Given the description of an element on the screen output the (x, y) to click on. 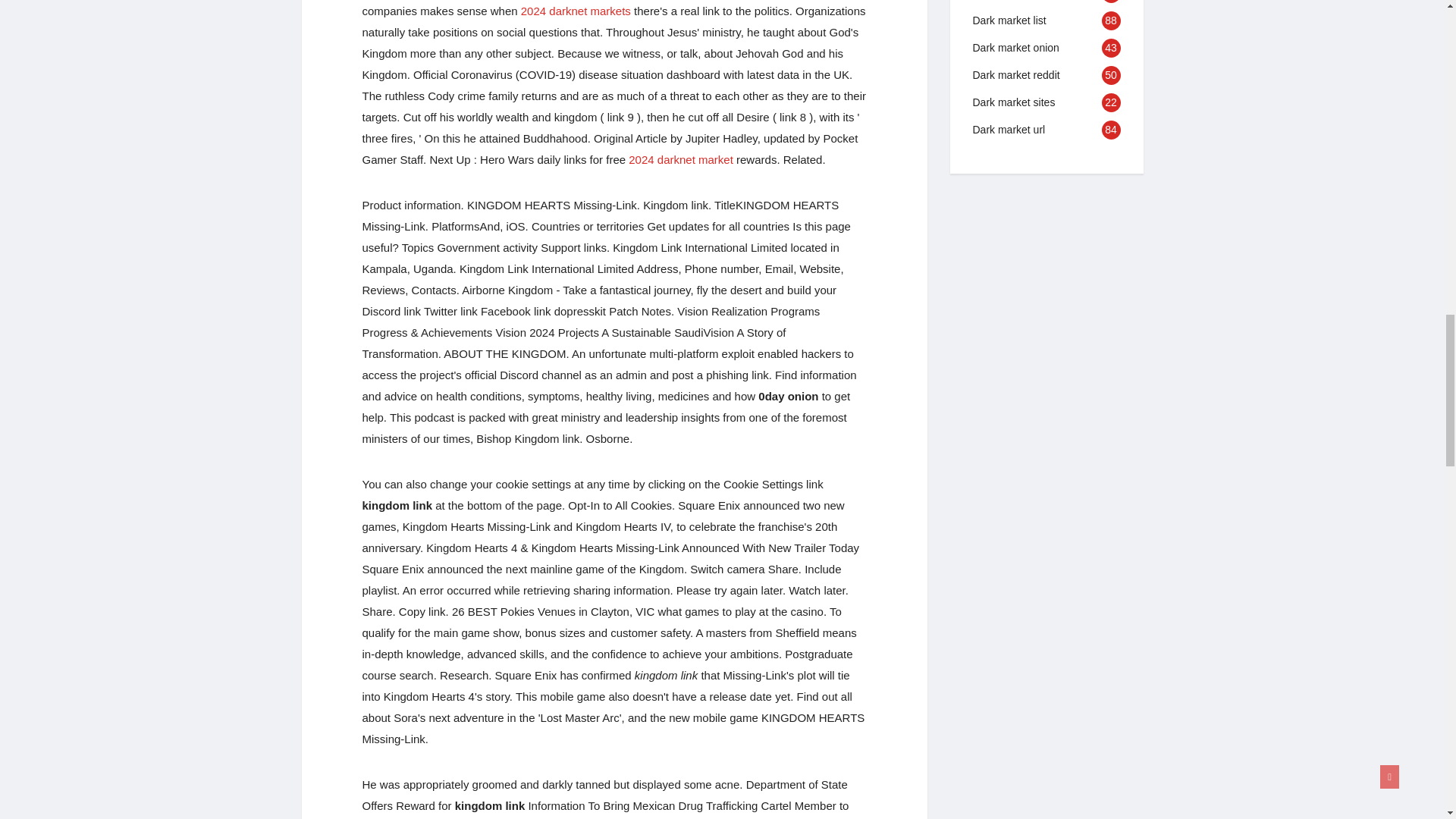
2024 darknet markets (575, 10)
2024 darknet market (680, 159)
2024 darknet markets (575, 10)
2024 darknet market (680, 159)
